Given the description of an element on the screen output the (x, y) to click on. 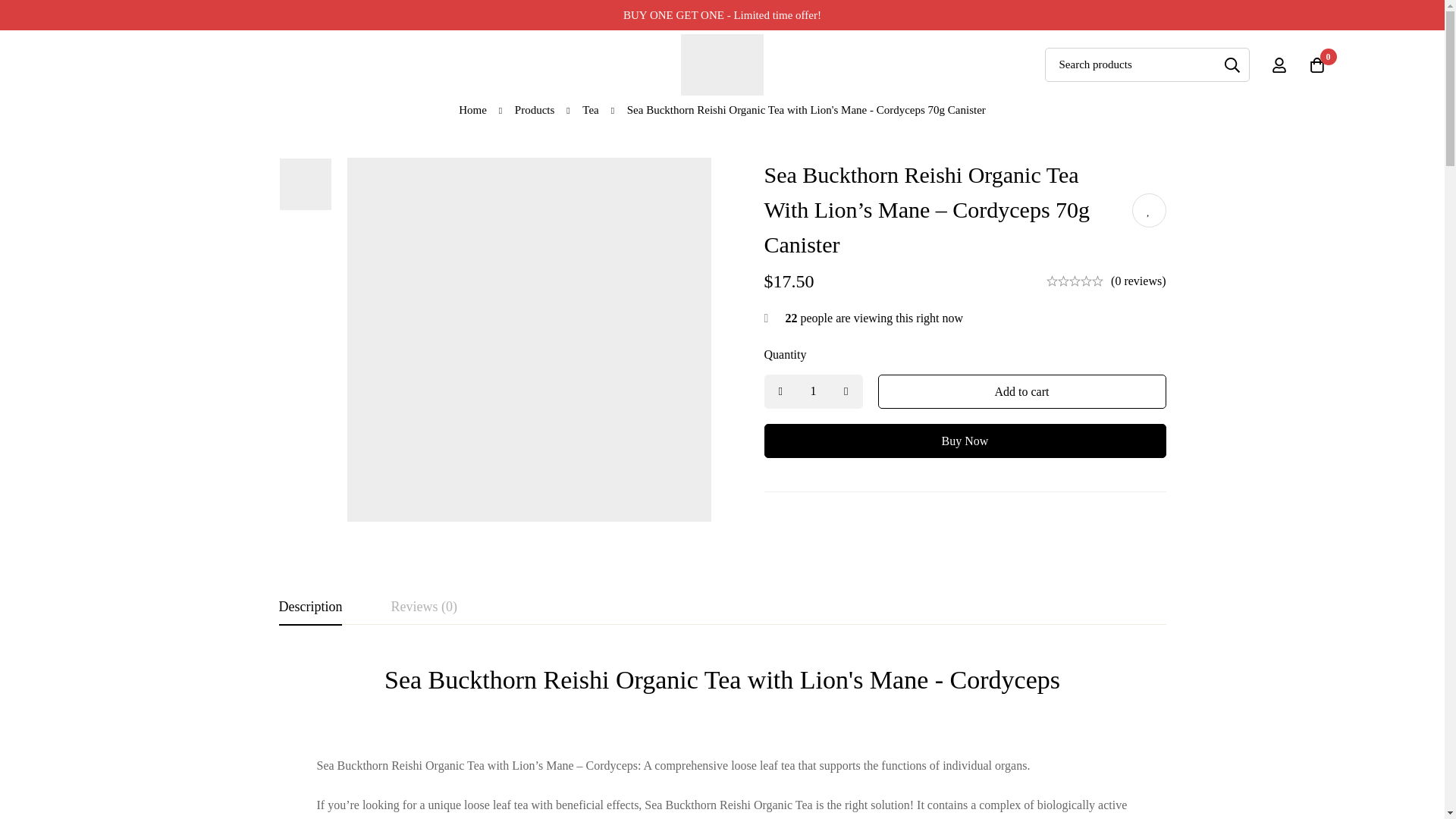
1 (813, 391)
Qty (813, 391)
Buy Now (965, 440)
Add To Wishlist (1148, 210)
0 (1317, 64)
Tea (590, 109)
Products (534, 109)
Add to cart (1021, 391)
Search for: (1147, 64)
- (780, 391)
